Given the description of an element on the screen output the (x, y) to click on. 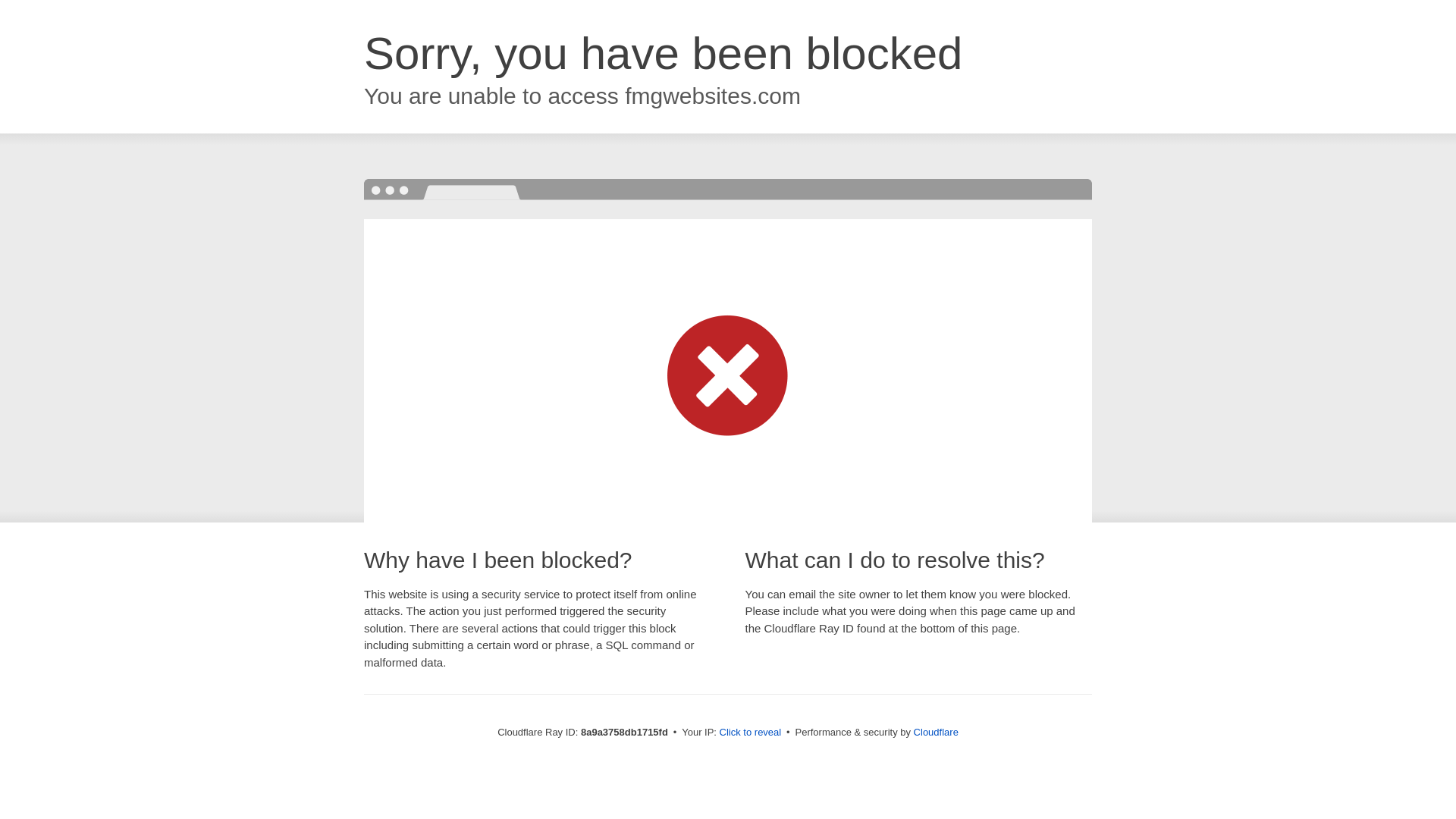
Click to reveal (750, 732)
Cloudflare (936, 731)
